Given the description of an element on the screen output the (x, y) to click on. 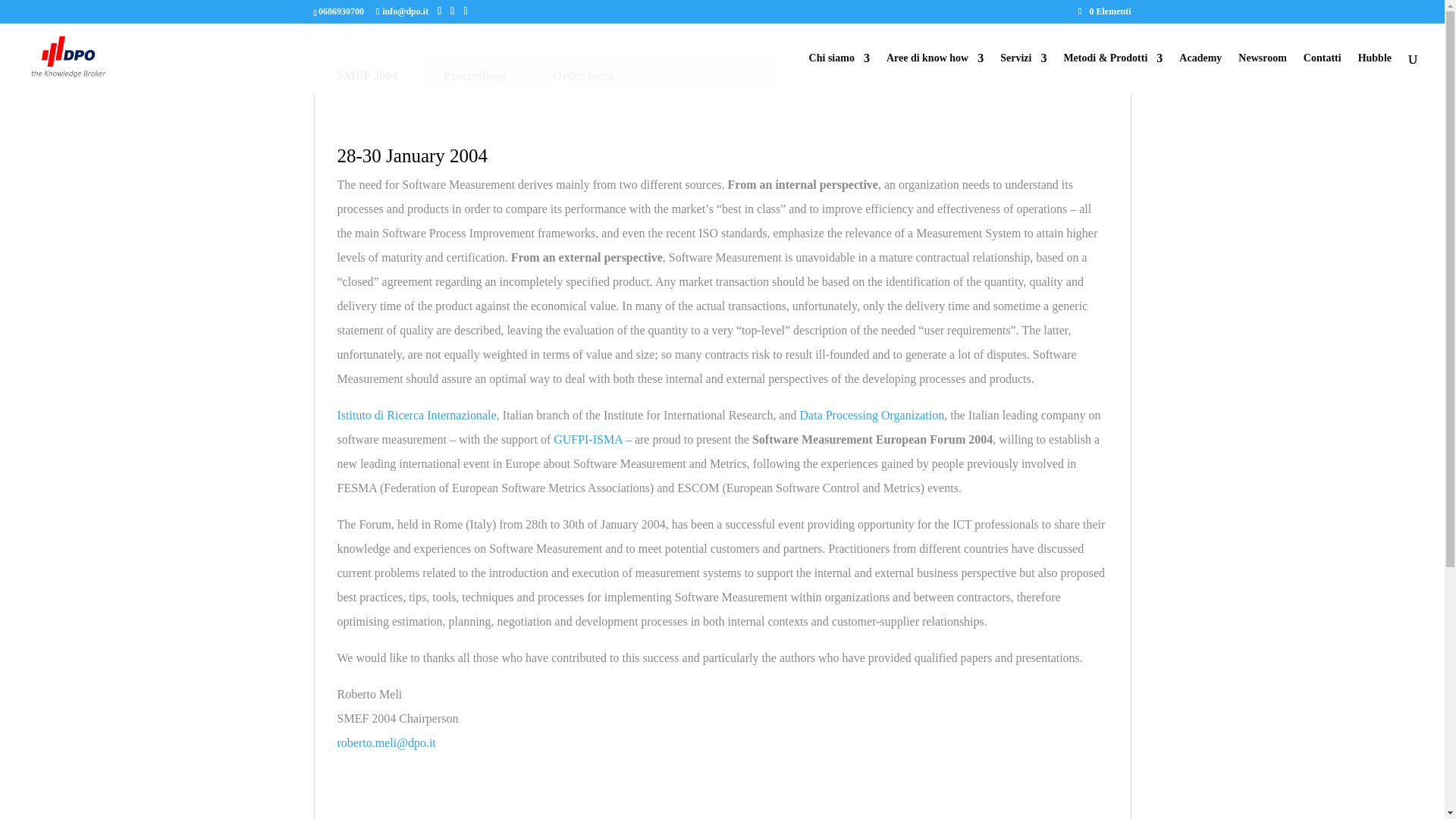
0 Elementi (1104, 10)
Istituto di Ricerca Internazionale (416, 414)
Academy (1200, 73)
Order form (582, 75)
SMEF 2004 (367, 75)
Chi siamo (839, 73)
Contatti (1321, 73)
Newsroom (1263, 73)
Aree di know how (935, 73)
Proceedings (474, 75)
Servizi (1023, 73)
Data Processing Organization (871, 414)
